Given the description of an element on the screen output the (x, y) to click on. 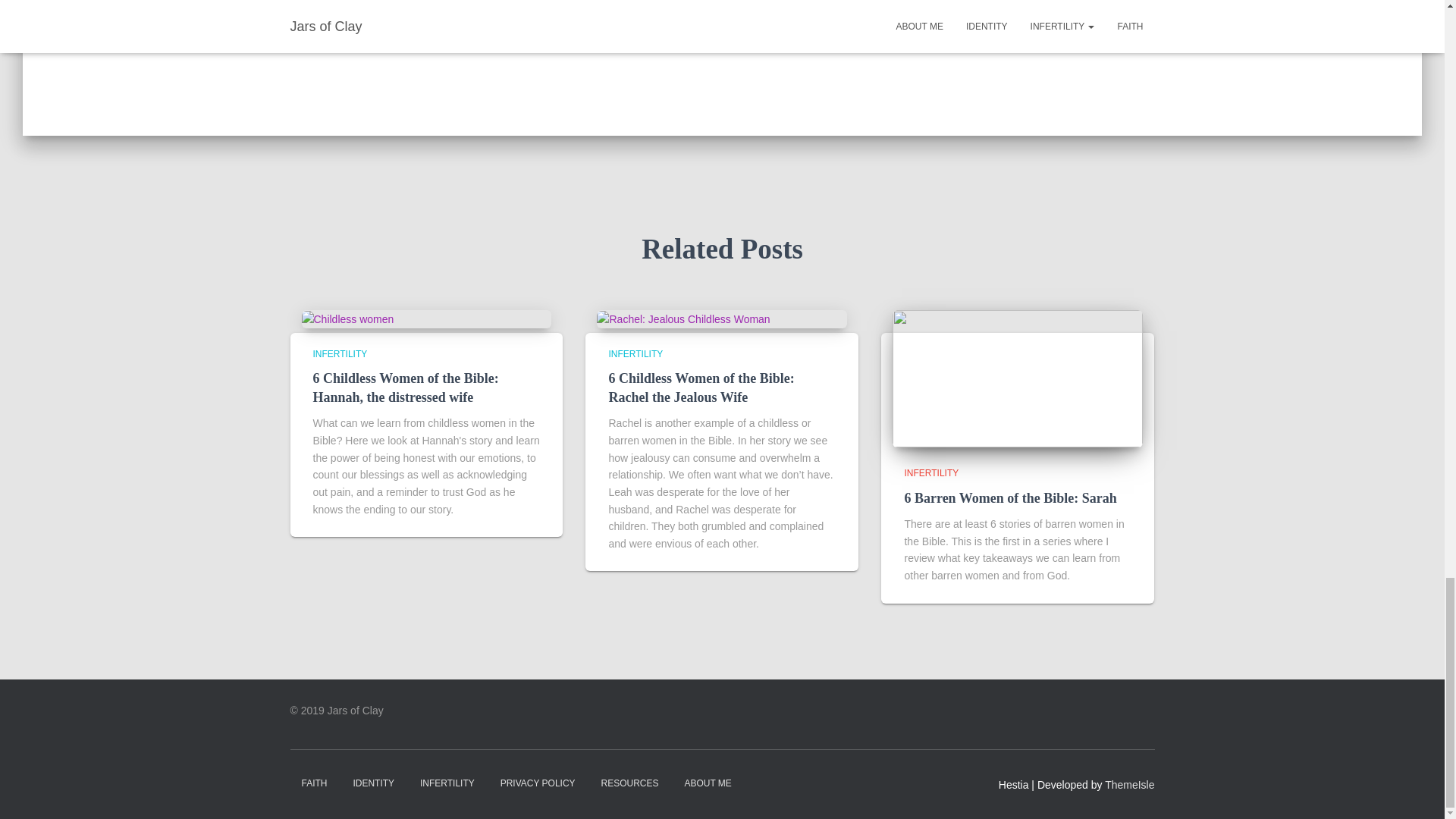
View all posts in Infertility (339, 353)
6 Childless Women of the Bible: Hannah, the distressed wife (347, 318)
7.3.5 (519, 14)
